Given the description of an element on the screen output the (x, y) to click on. 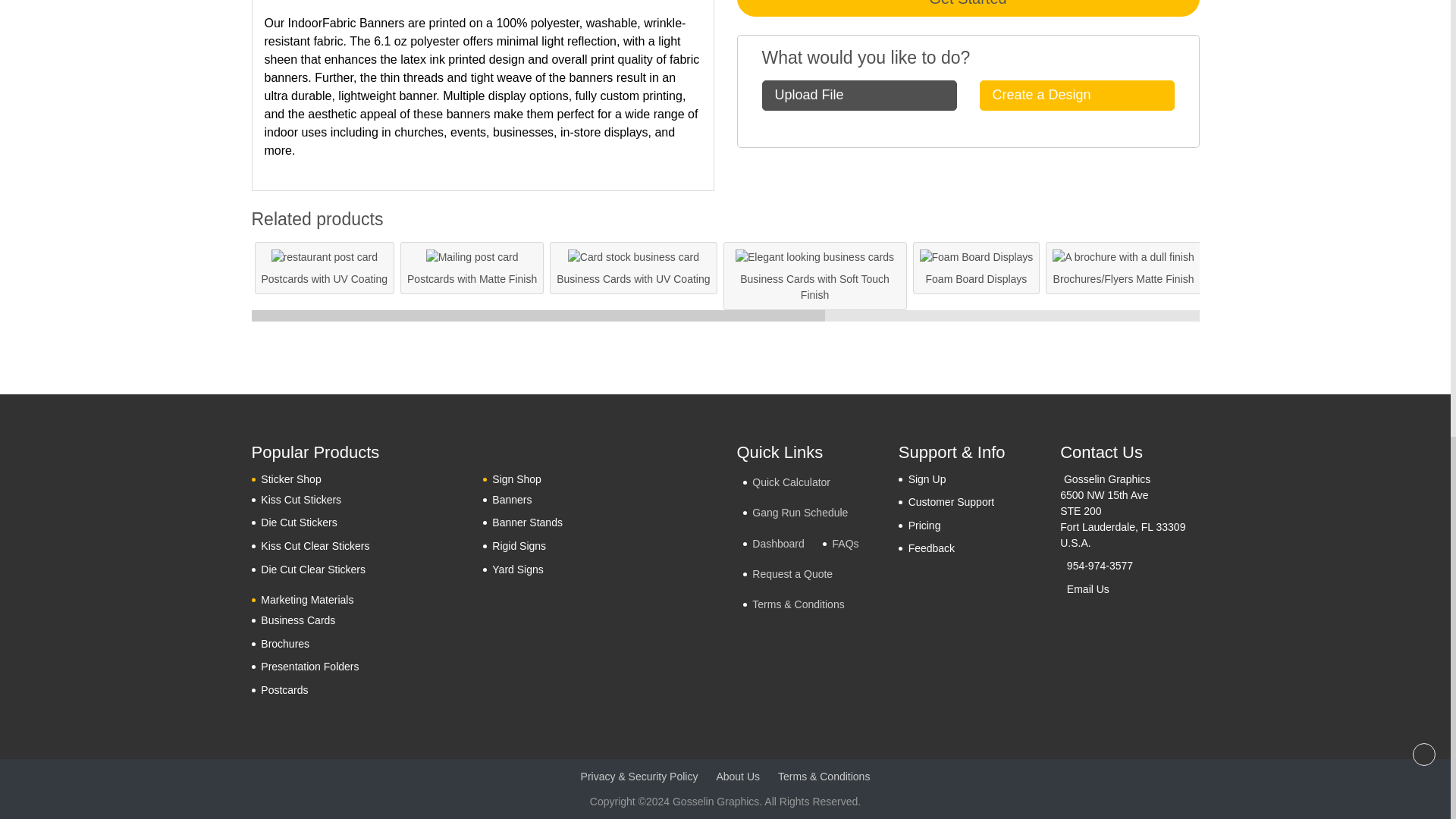
Business Cards with Soft Touch Finish (814, 257)
Sign Up (922, 478)
Customer Support (946, 502)
Foam Board Displays (976, 257)
Business Cards with UV Coating (632, 257)
Postcards with UV Coating (324, 257)
Postcards with Matte Finish (472, 257)
